Given the description of an element on the screen output the (x, y) to click on. 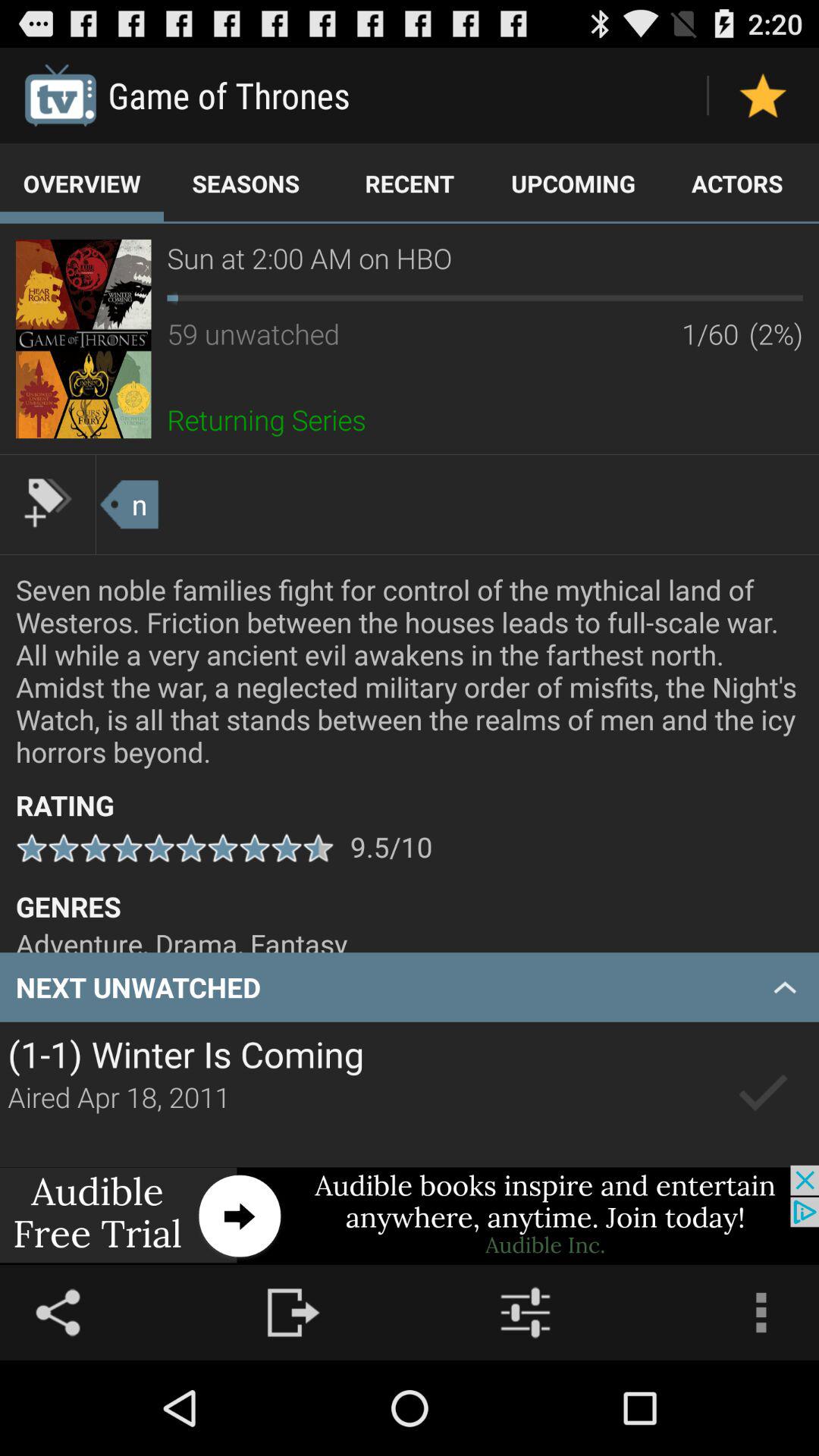
select unwatched episode (763, 1093)
